Given the description of an element on the screen output the (x, y) to click on. 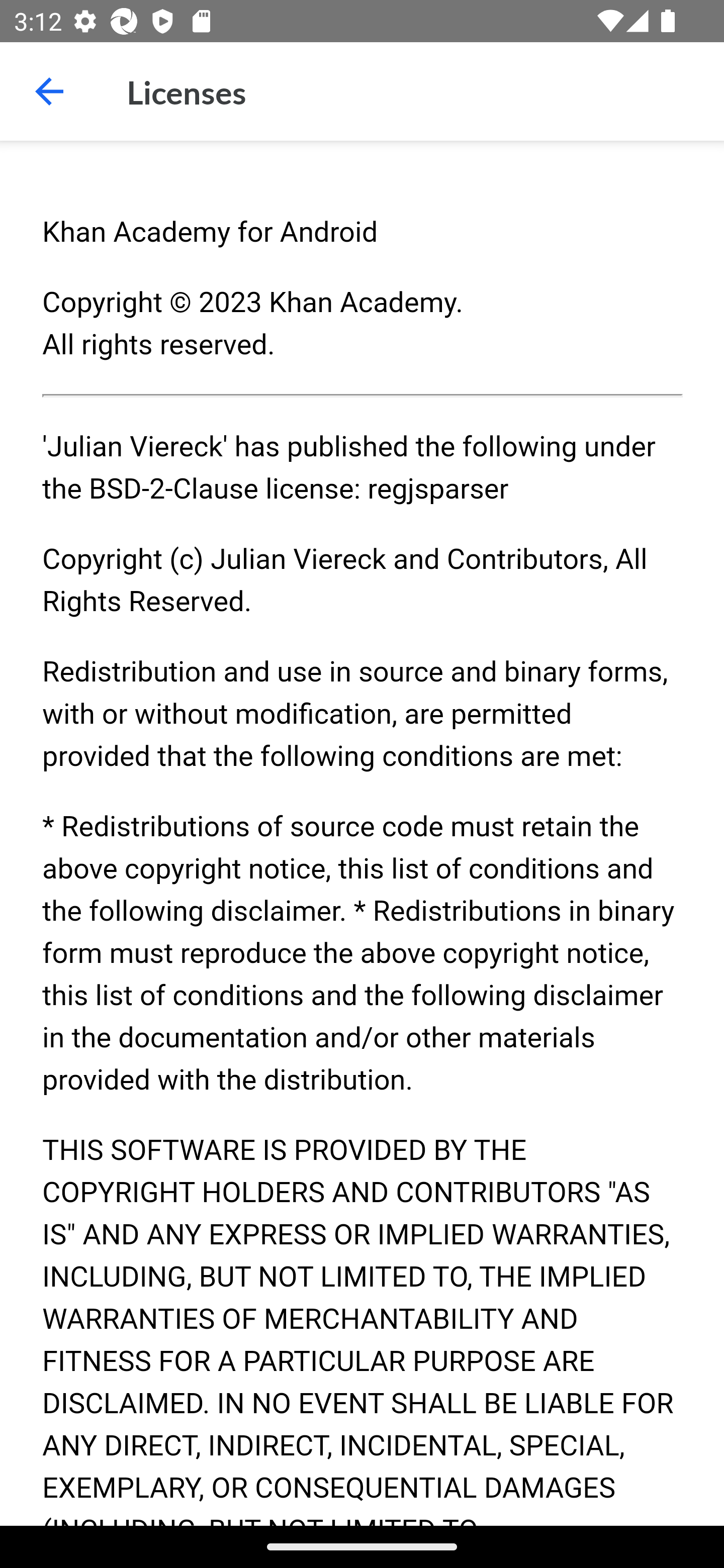
Navigate up (49, 91)
